Given the description of an element on the screen output the (x, y) to click on. 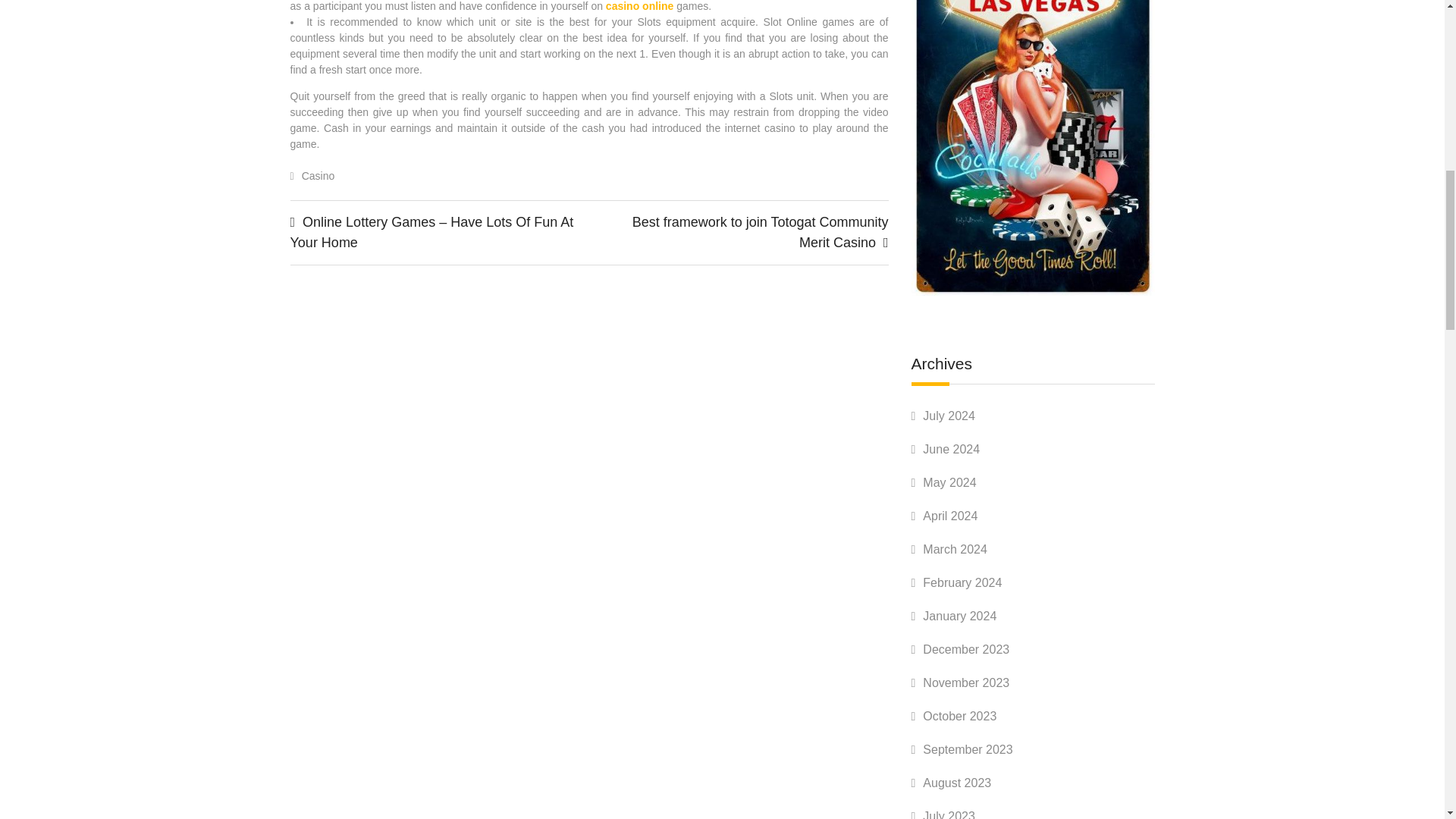
January 2024 (959, 615)
July 2023 (949, 814)
August 2023 (957, 782)
July 2024 (949, 415)
May 2024 (949, 481)
November 2023 (966, 682)
September 2023 (967, 748)
June 2024 (951, 449)
October 2023 (959, 716)
February 2024 (962, 582)
casino online (638, 6)
March 2024 (955, 549)
Casino (317, 175)
April 2024 (949, 515)
Best framework to join Totogat Community Merit Casino (759, 232)
